Given the description of an element on the screen output the (x, y) to click on. 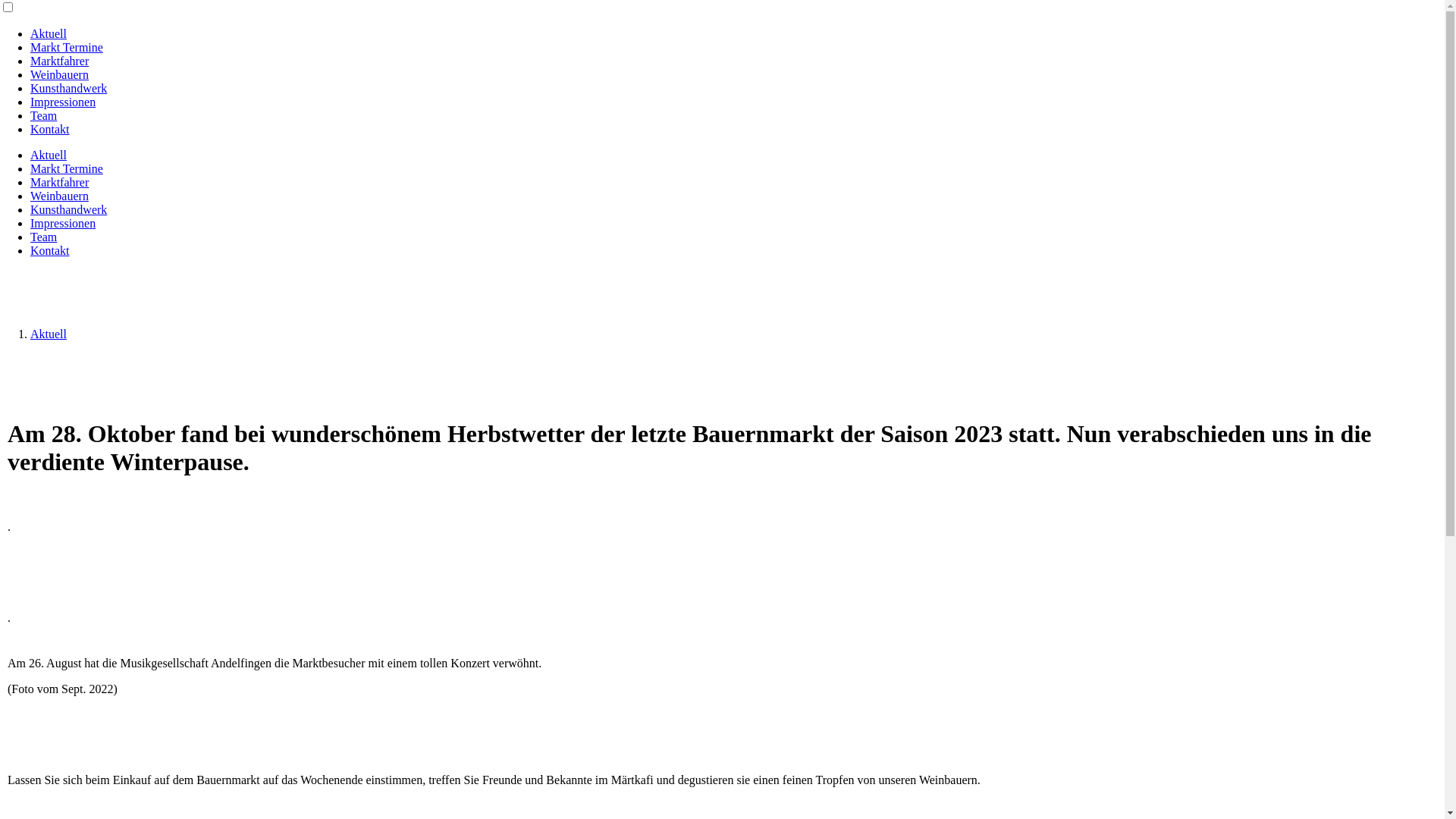
Marktfahrer Element type: text (59, 60)
Kunsthandwerk Element type: text (68, 209)
Kontakt Element type: text (49, 128)
Kontakt Element type: text (49, 250)
Weinbauern Element type: text (59, 195)
Aktuell Element type: text (48, 154)
Team Element type: text (43, 115)
Weinbauern Element type: text (59, 74)
Marktfahrer Element type: text (59, 181)
Impressionen Element type: text (62, 222)
Kunsthandwerk Element type: text (68, 87)
Team Element type: text (43, 236)
Impressionen Element type: text (62, 101)
Aktuell Element type: text (48, 33)
Aktuell Element type: text (48, 333)
Markt Termine Element type: text (66, 168)
Markt Termine Element type: text (66, 46)
